Given the description of an element on the screen output the (x, y) to click on. 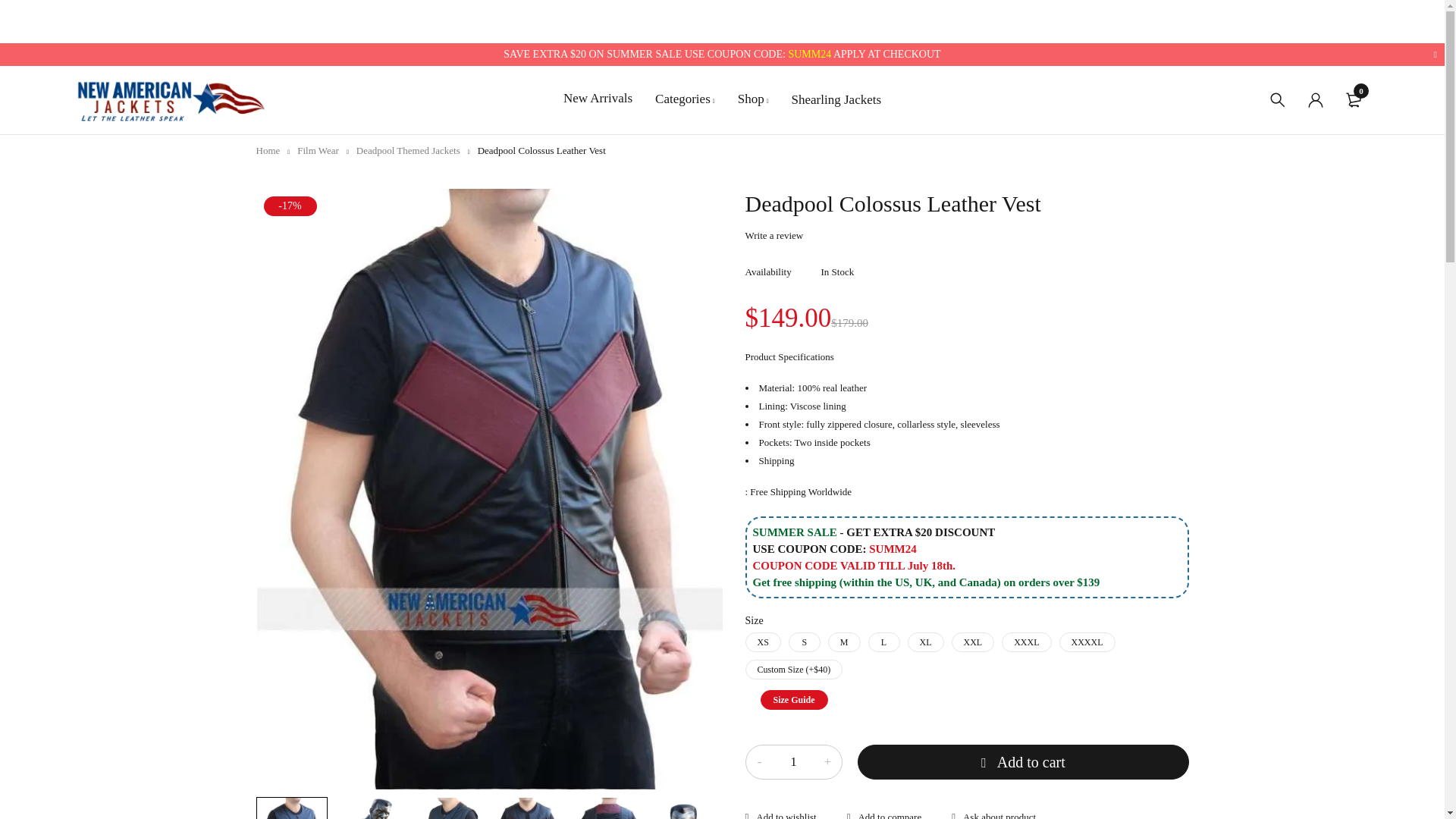
Yobazar (169, 99)
1 (792, 761)
